Given the description of an element on the screen output the (x, y) to click on. 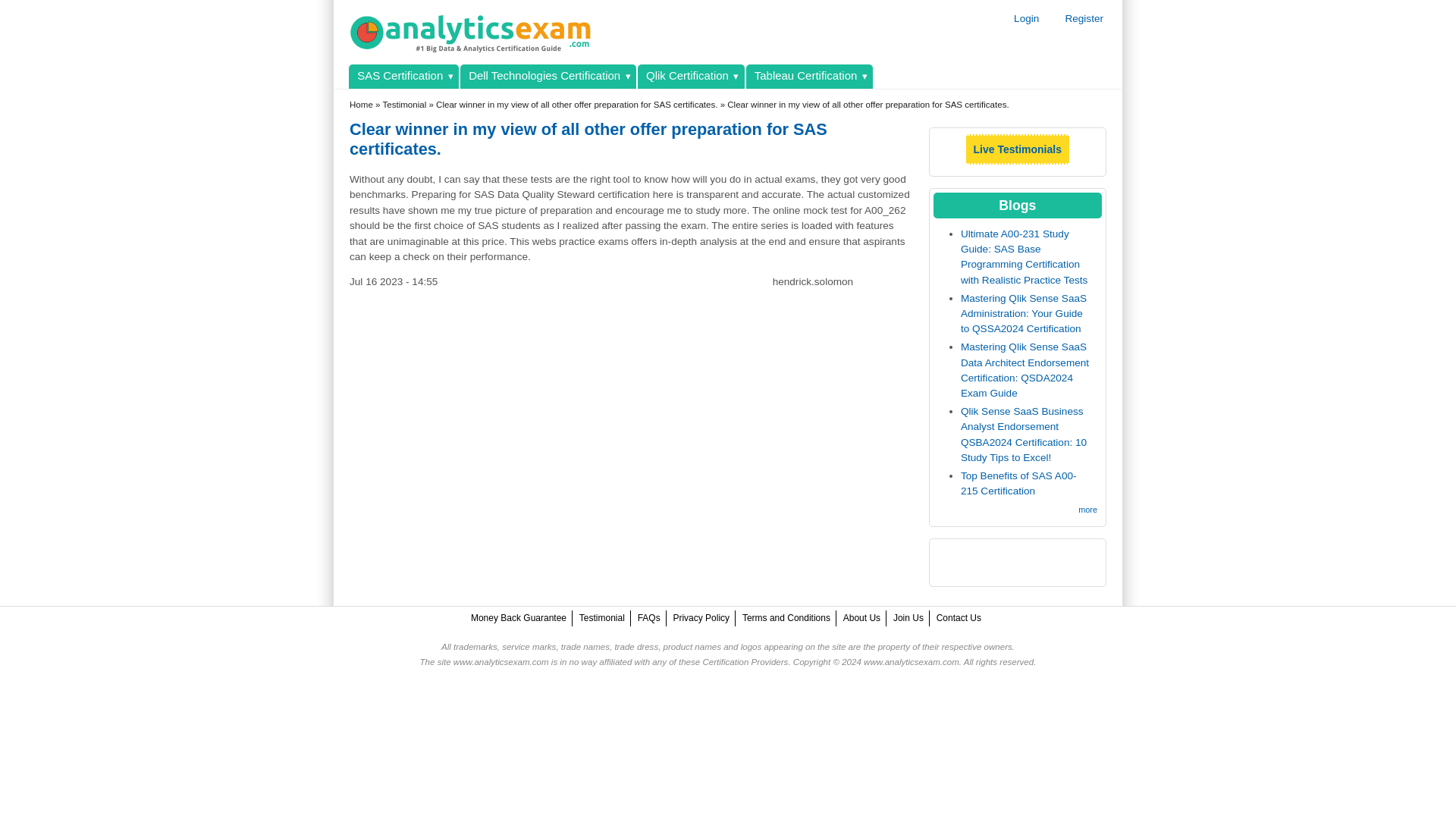
Register (1083, 18)
Skip to search (32, 0)
SAS Certification (403, 76)
SAS Foundation Certification (403, 76)
Dell Technologies Certification (548, 76)
Login (1026, 18)
Qlik Certification (690, 76)
